Given the description of an element on the screen output the (x, y) to click on. 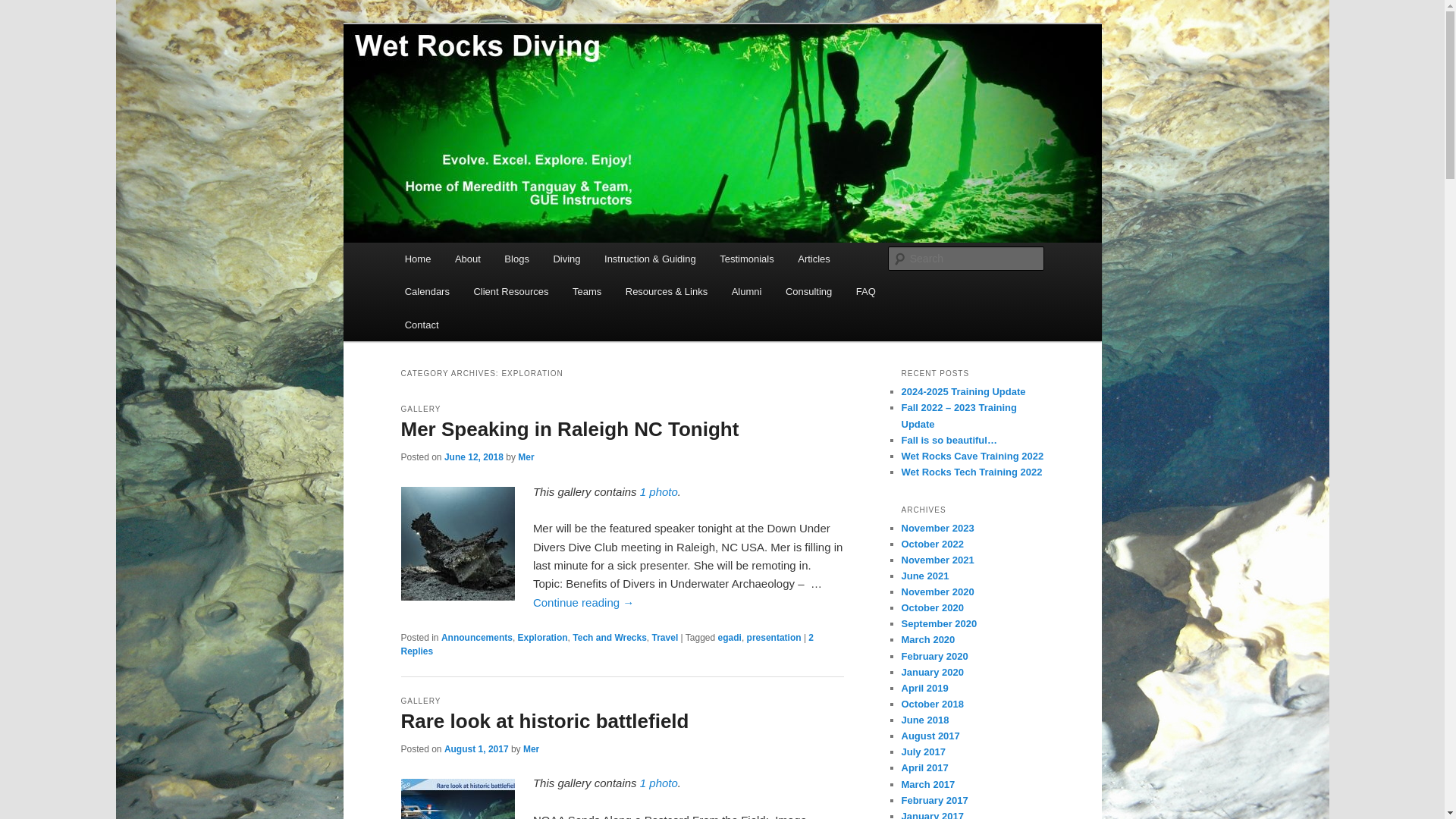
View all posts by Mer (530, 748)
Wet Rocks Diving (496, 78)
4:00 pm (473, 457)
Home (417, 258)
3:23 pm (476, 748)
About (467, 258)
Permalink to Mer Speaking in Raleigh NC Tonight (659, 491)
View all posts by Mer (526, 457)
Search (24, 8)
Blogs (517, 258)
Diving (566, 258)
Permalink to Rare look at historic battlefield (659, 782)
